Given the description of an element on the screen output the (x, y) to click on. 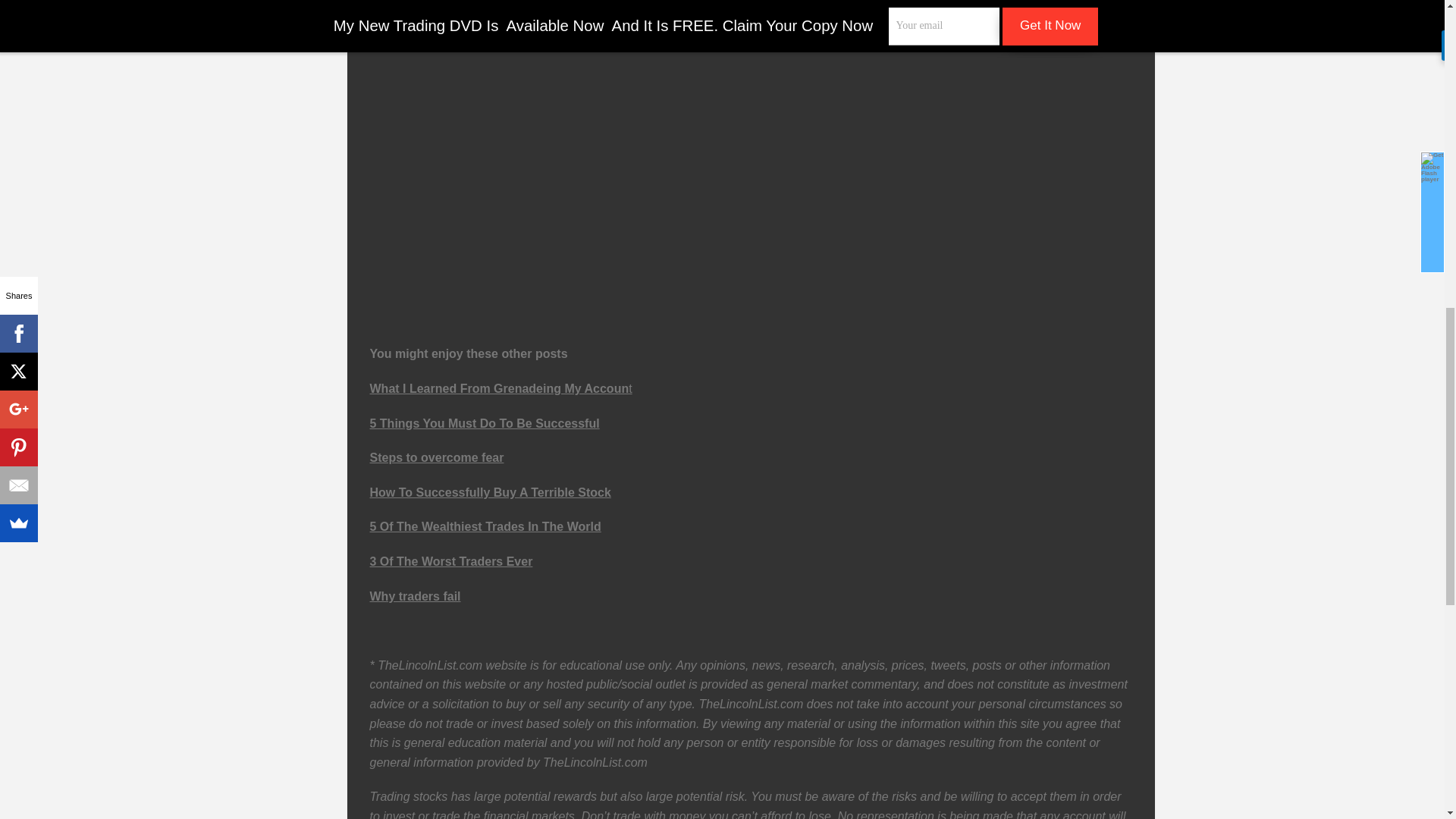
5 Of The Wealthiest Trades In The World (485, 526)
5 Things You Must Do To Be Successful (484, 422)
What I Learned From Grenadeing My Account (500, 388)
How To Successfully Buy A Terrible Stock (490, 492)
3 Of The Worst Traders Ever (450, 561)
Steps to overcome fear (436, 457)
